Given the description of an element on the screen output the (x, y) to click on. 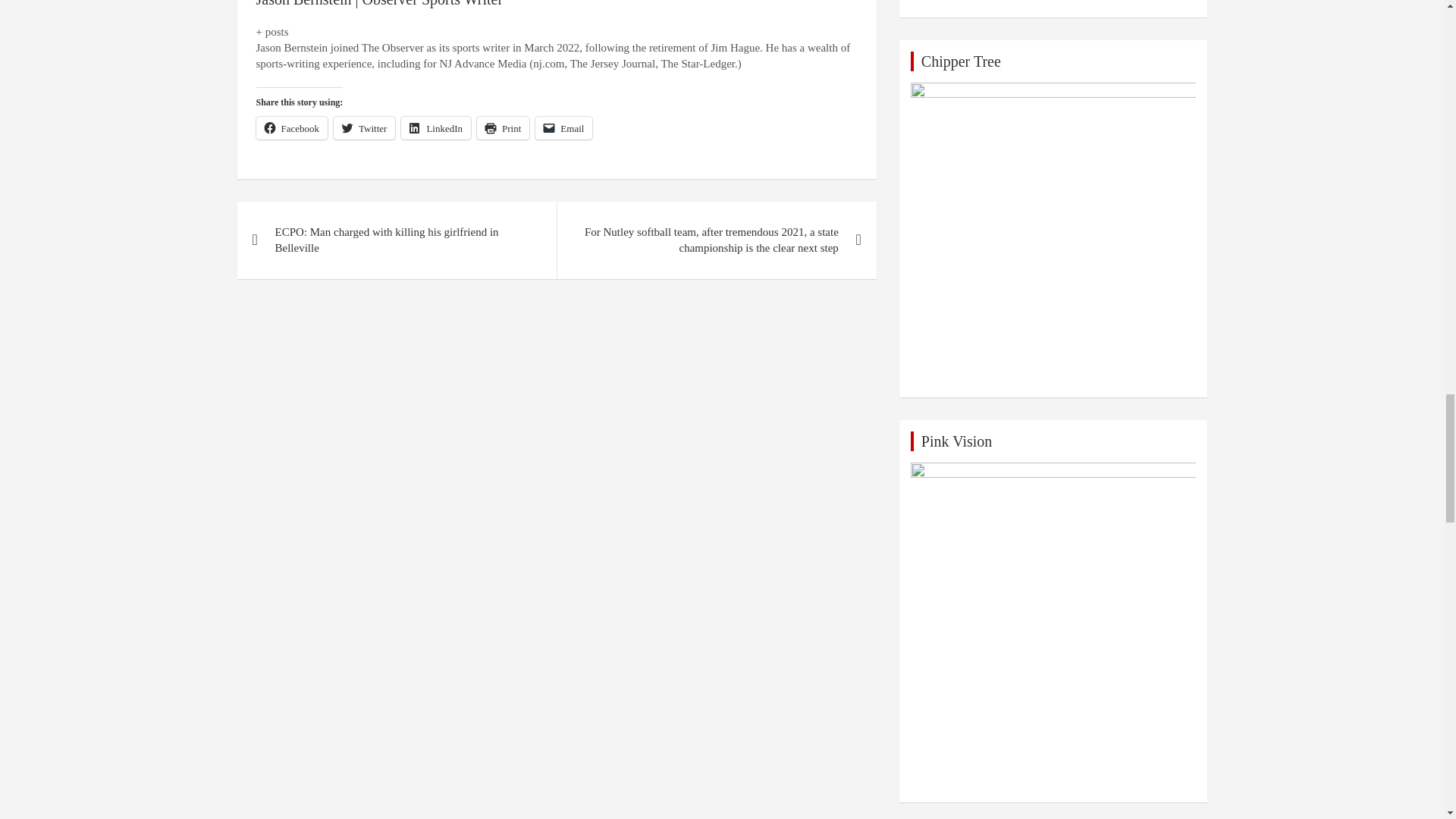
Click to print (503, 128)
Click to share on LinkedIn (435, 128)
Click to share on Twitter (363, 128)
Click to share on Facebook (292, 128)
Click to email a link to a friend (563, 128)
